Given the description of an element on the screen output the (x, y) to click on. 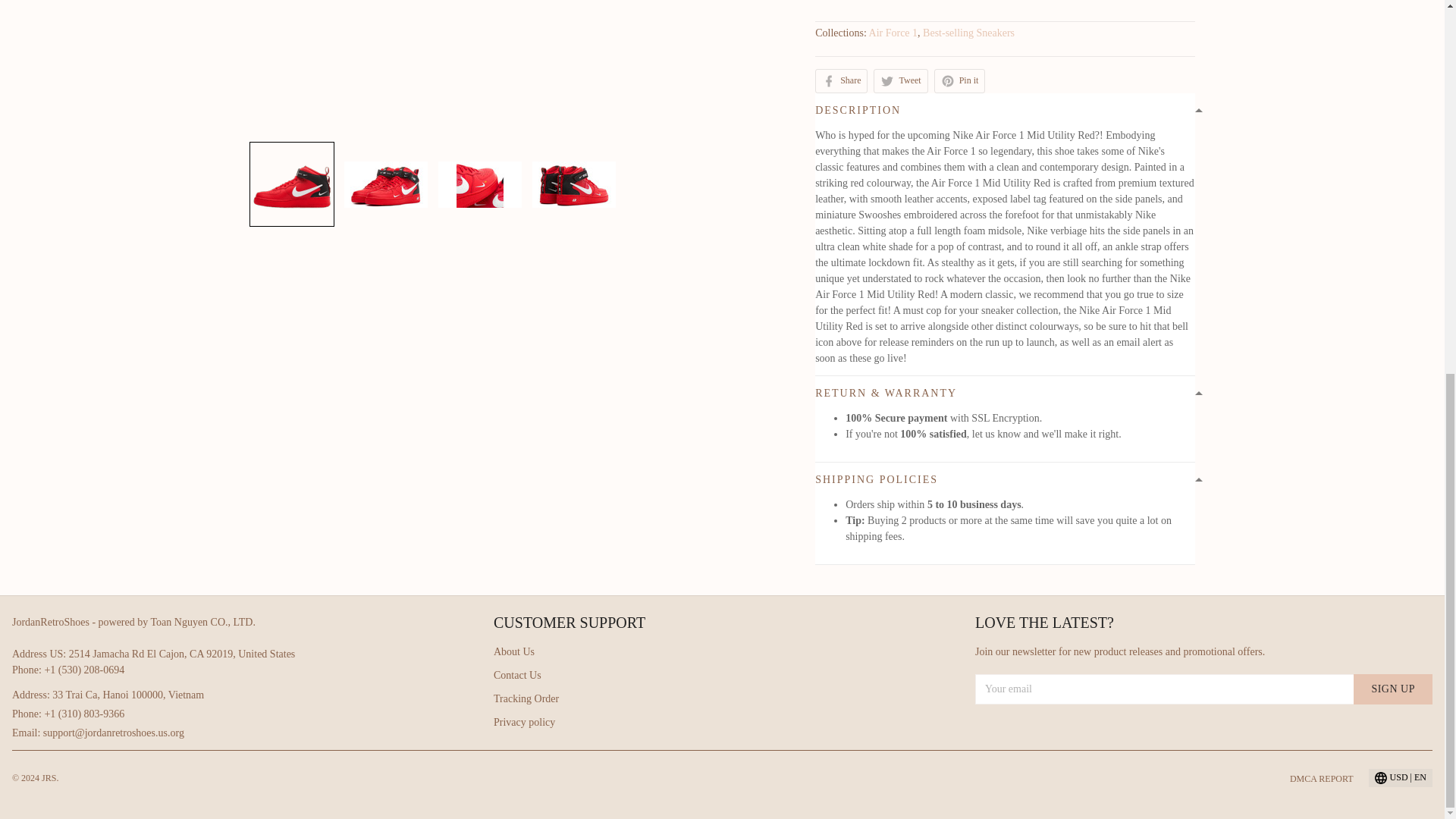
Air Force 1 (893, 32)
Pin on Pinterest (959, 80)
Tracking Order (526, 698)
Pin it (959, 80)
Share on Twitter (900, 80)
DMCA REPORT (1322, 778)
Tweet (900, 80)
Best-selling Sneakers (968, 32)
Share (841, 80)
Contact Us (517, 674)
